Given the description of an element on the screen output the (x, y) to click on. 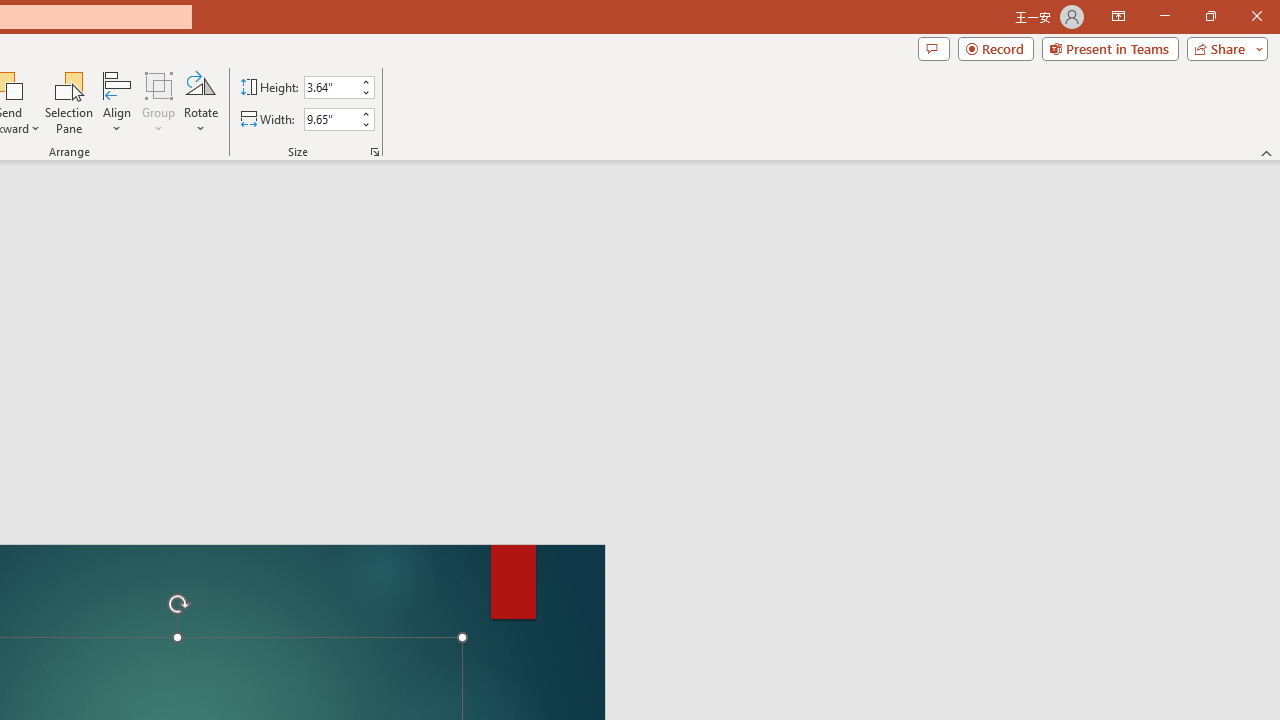
Align (117, 102)
Group (159, 102)
Rotate (200, 102)
Ribbon Display Options (1118, 16)
